Given the description of an element on the screen output the (x, y) to click on. 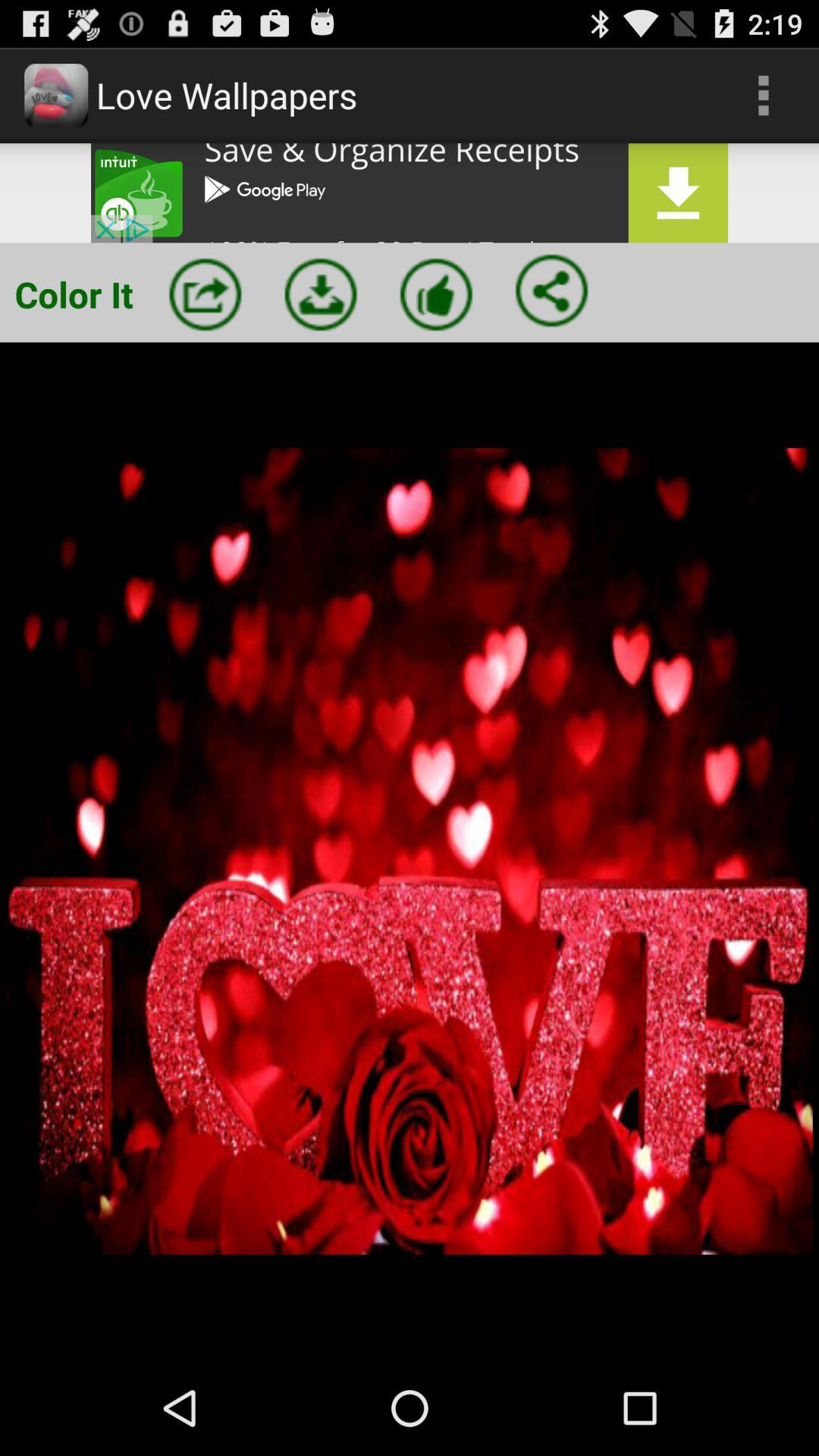
share the image (551, 290)
